Given the description of an element on the screen output the (x, y) to click on. 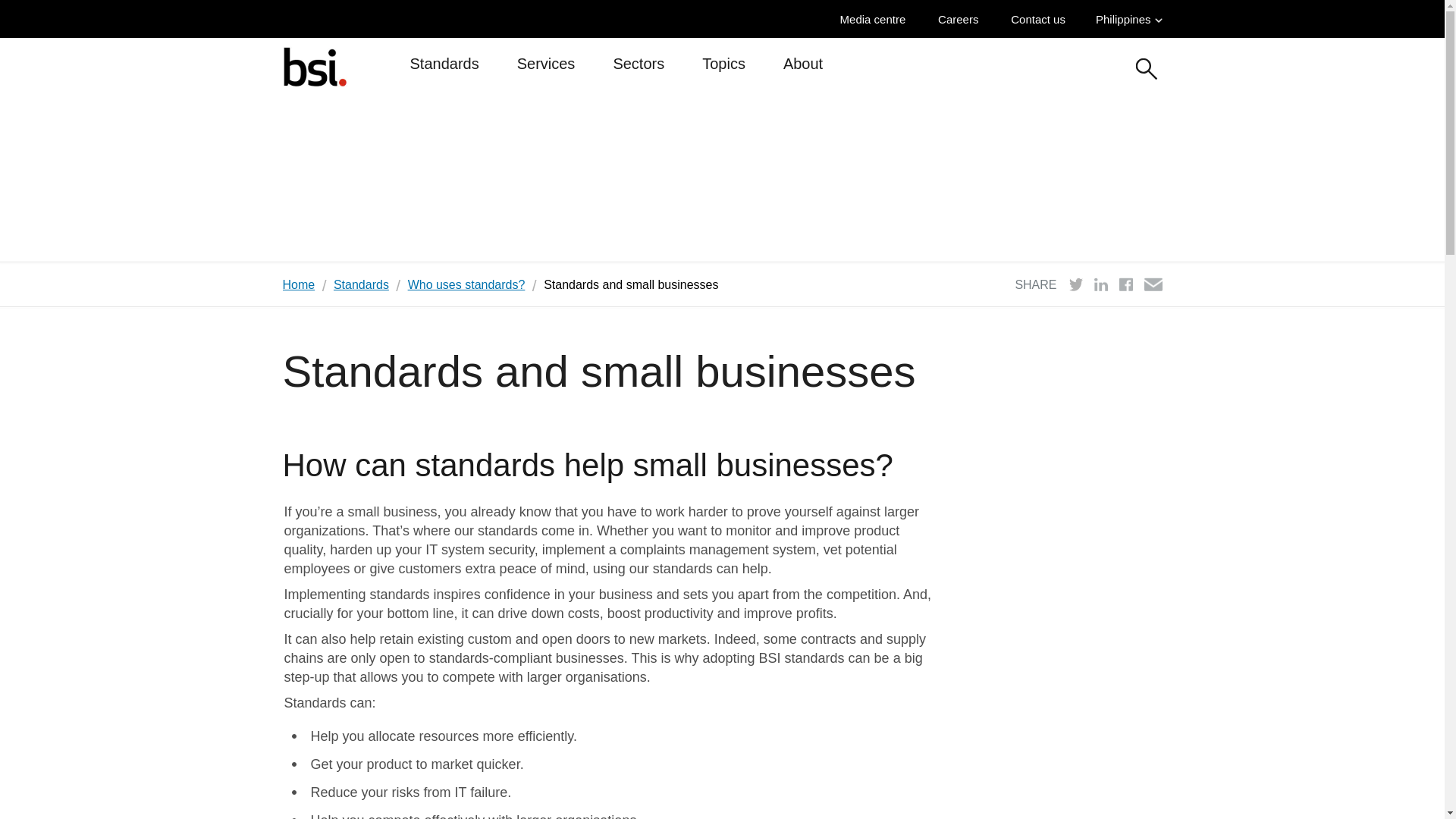
Philippines (1128, 19)
logo (314, 65)
Media centre (877, 19)
Careers (961, 19)
Contact us (1041, 19)
Careers (961, 19)
Standards (444, 70)
Contact us (1041, 19)
Media centre (877, 19)
